Given the description of an element on the screen output the (x, y) to click on. 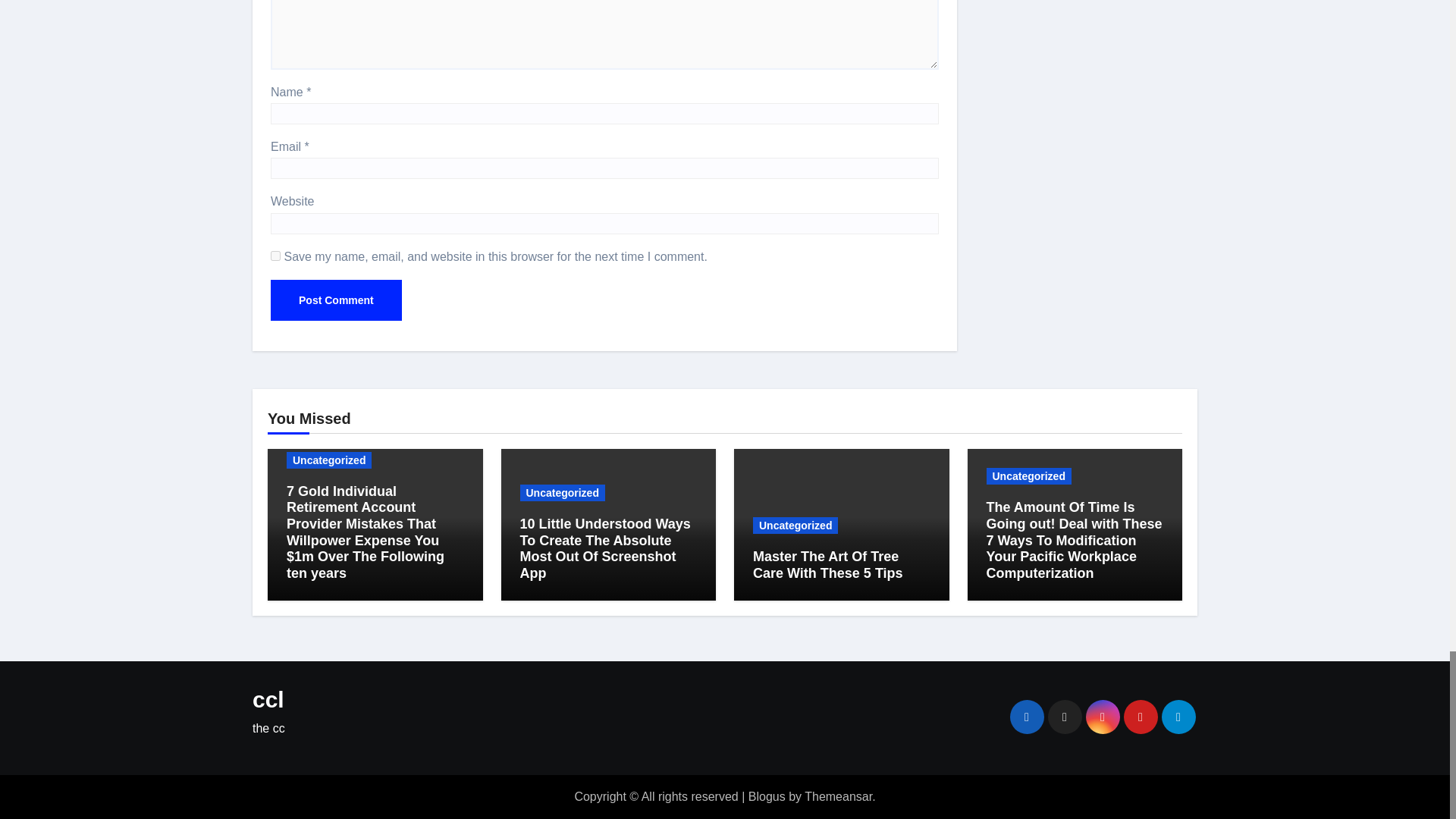
Post Comment (335, 300)
yes (275, 255)
Permalink to: Master The Art Of Tree Care With These 5 Tips (827, 564)
